Given the description of an element on the screen output the (x, y) to click on. 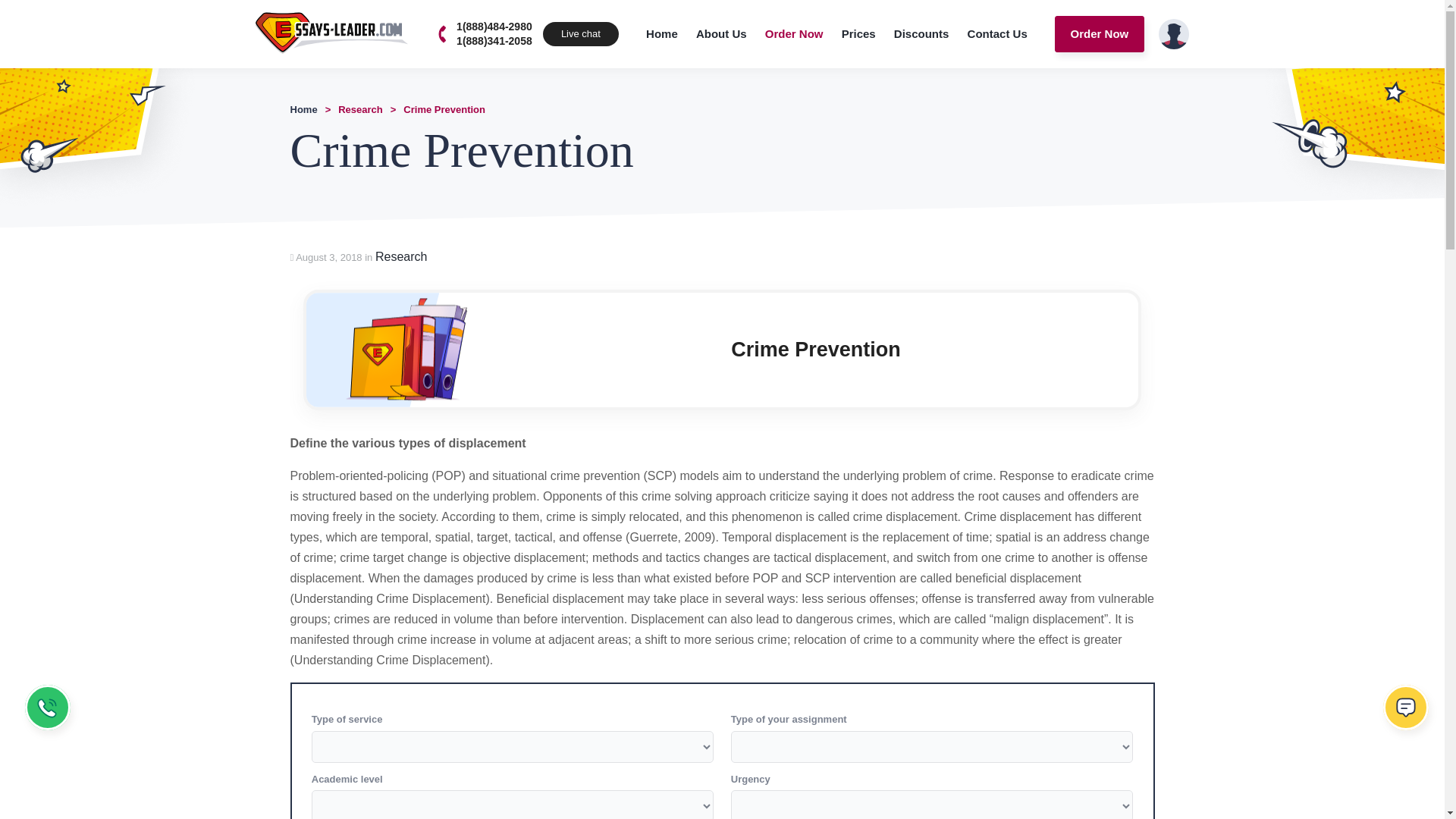
Go to the Research Essays Category archives. (359, 108)
Discounts (921, 33)
Order Now (1099, 33)
Go to Essays.Leader.com. (303, 108)
Contact Us (997, 33)
About Us (721, 33)
Order Now (794, 33)
Live chat (1408, 712)
Live chat (580, 33)
